Given the description of an element on the screen output the (x, y) to click on. 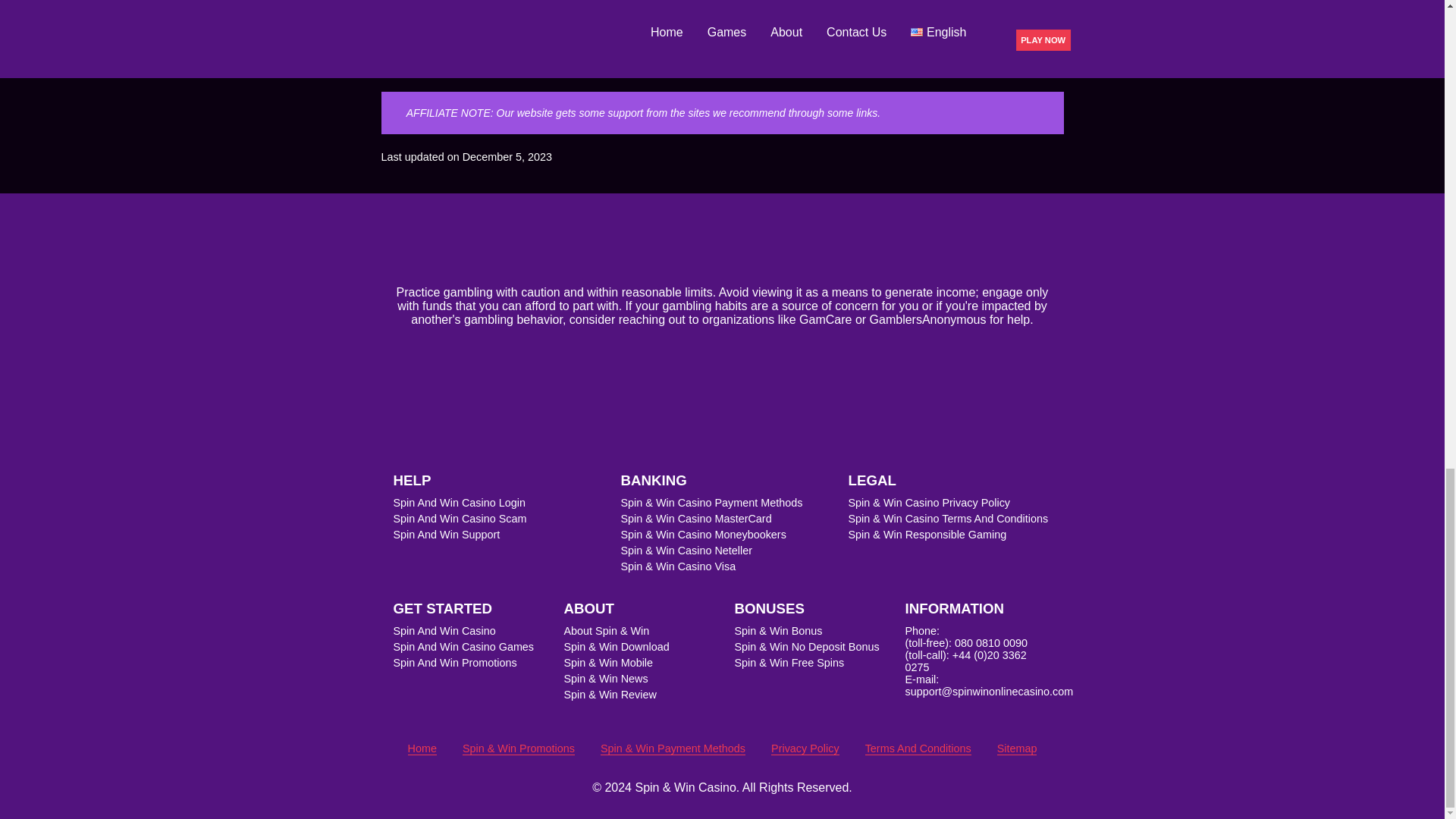
Spin And Win Casino Login (458, 502)
Click here (582, 2)
Play SpinWin Blackjack Now (722, 58)
contact us (969, 13)
Play Spin and Win Blackjack Now! (722, 58)
Contact Us (969, 13)
Click Here To Play SpinWin (582, 2)
Spin And Win Casino Scam (459, 518)
GamblersAnonymou (924, 318)
Spin And Win Support (446, 534)
